Given the description of an element on the screen output the (x, y) to click on. 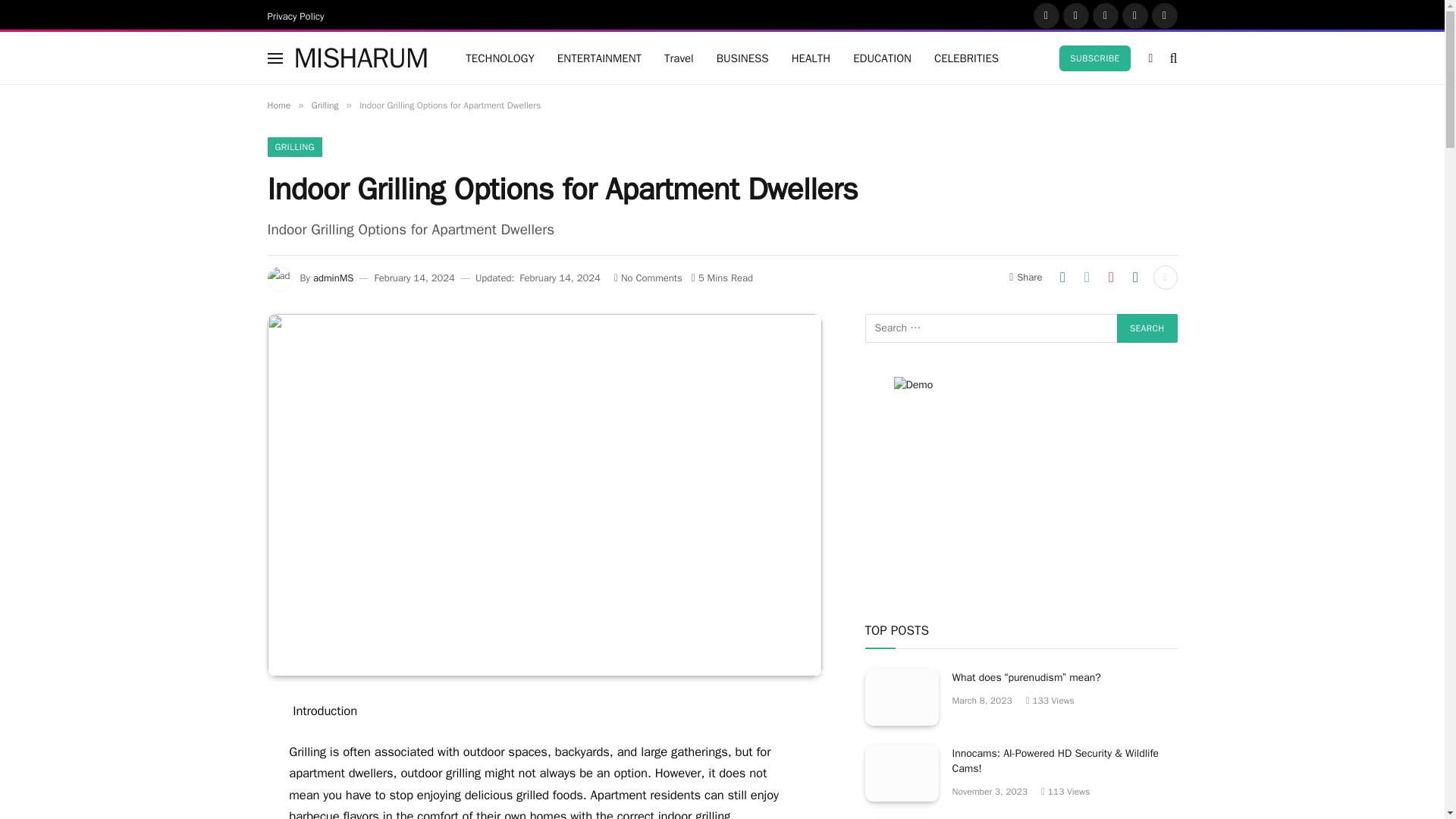
SUBSCRIBE (1094, 58)
Vimeo (1163, 15)
Grilling (325, 105)
Privacy Policy  (297, 15)
MISHARUM (361, 57)
EDUCATION (882, 57)
HEALTH (811, 57)
Search (1146, 328)
MISHARUM (361, 57)
Share on LinkedIn (1135, 277)
